Given the description of an element on the screen output the (x, y) to click on. 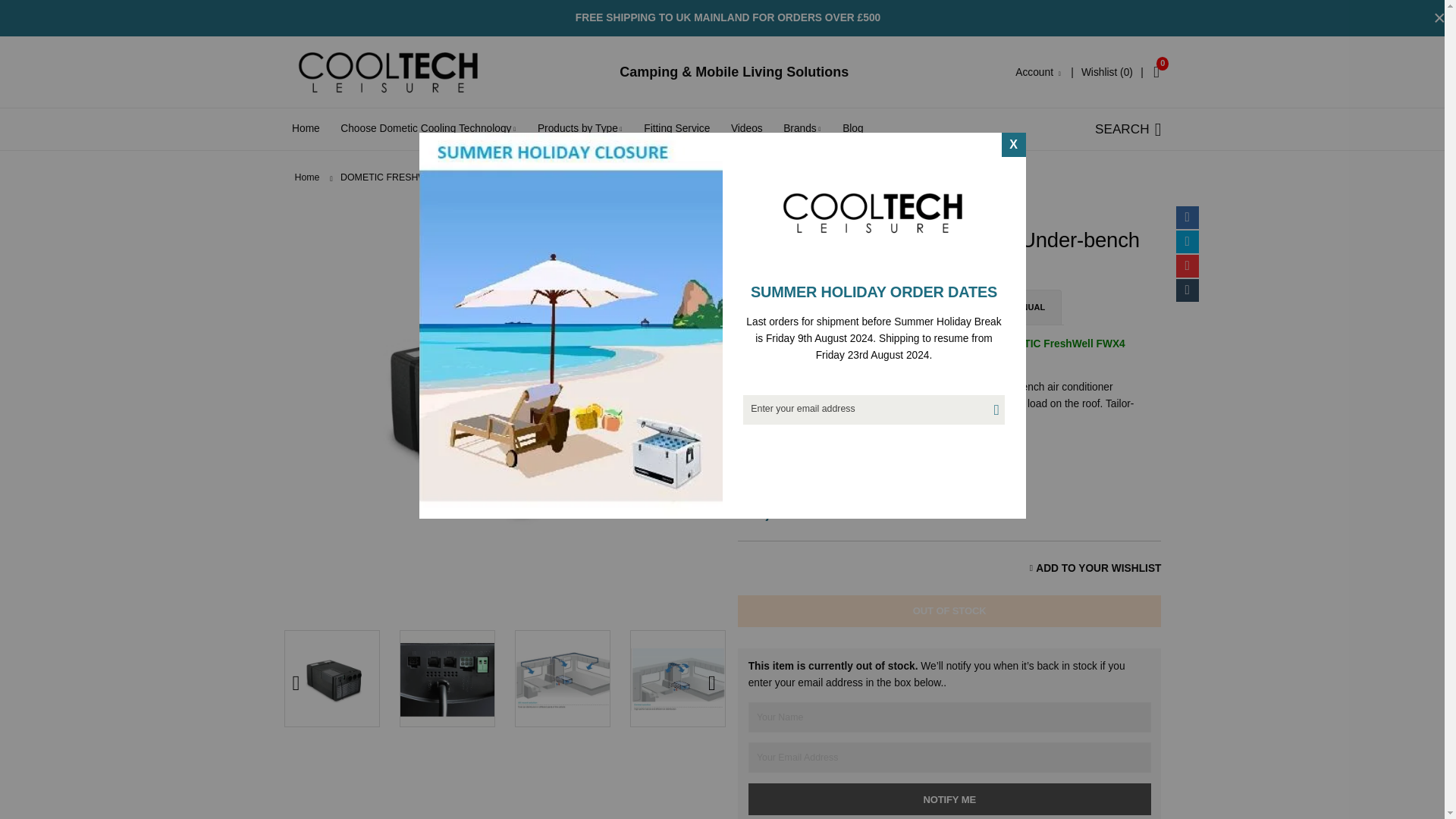
Home (305, 128)
Choose Dometic Cooling Technology (428, 128)
Account (1038, 71)
Products by Type (580, 128)
SEARCH (1127, 128)
